Given the description of an element on the screen output the (x, y) to click on. 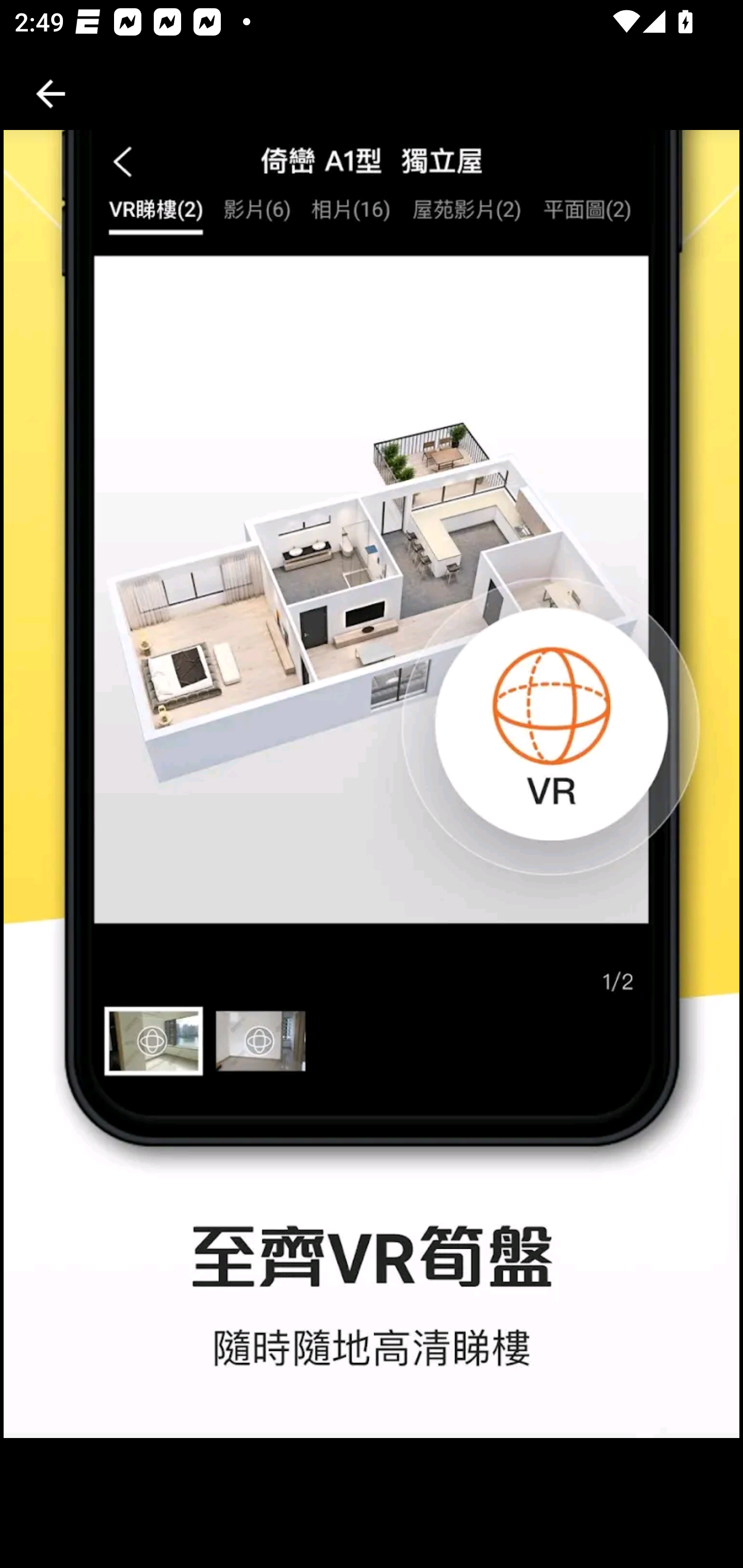
Back (50, 93)
